Given the description of an element on the screen output the (x, y) to click on. 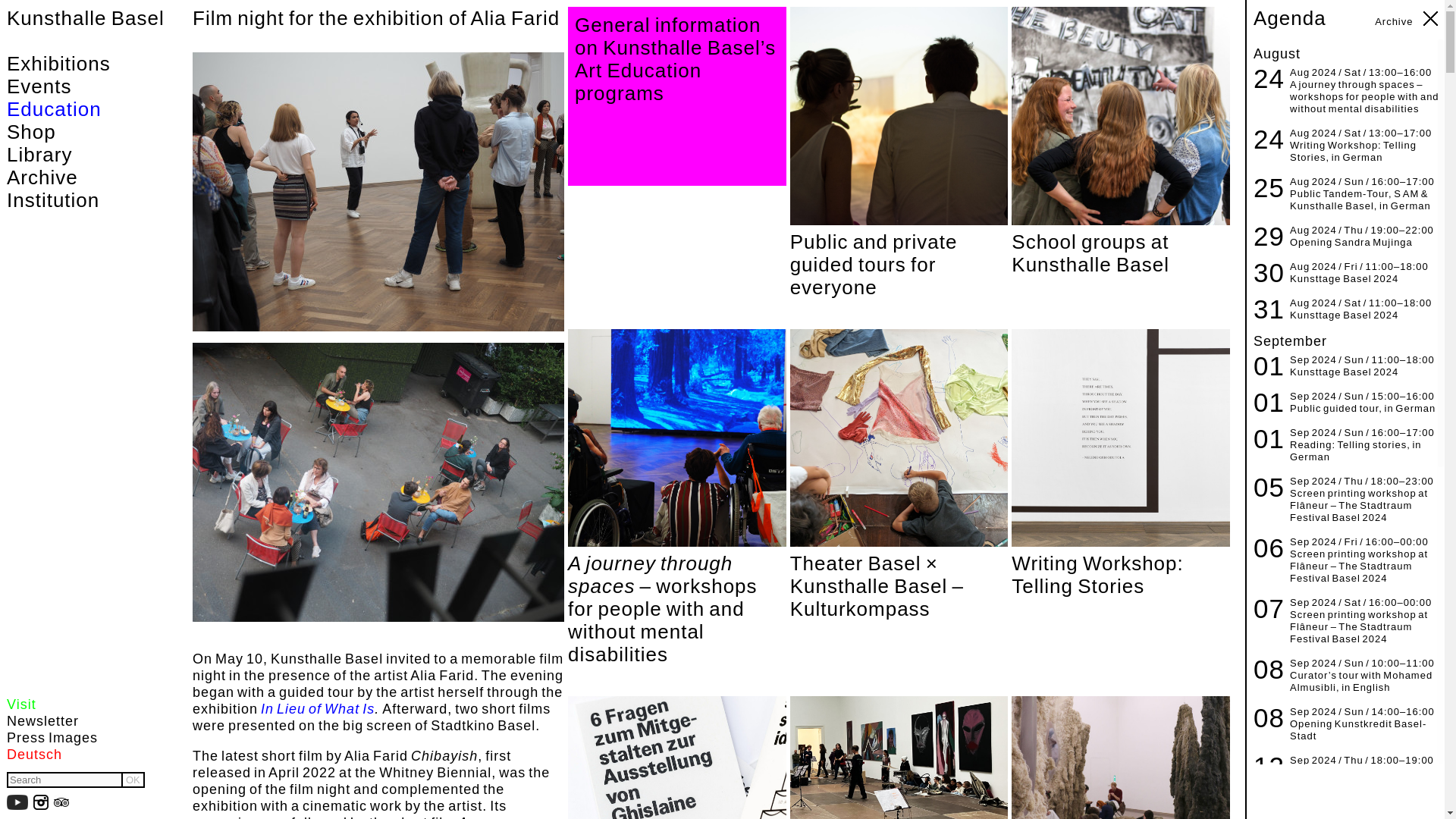
Shop (96, 131)
Library (96, 154)
Ok (132, 779)
Deutsch (75, 754)
Archive (1394, 21)
Education (96, 108)
Visit (75, 704)
Ok (132, 779)
Archive (96, 177)
Kunsthalle Basel (85, 17)
